Given the description of an element on the screen output the (x, y) to click on. 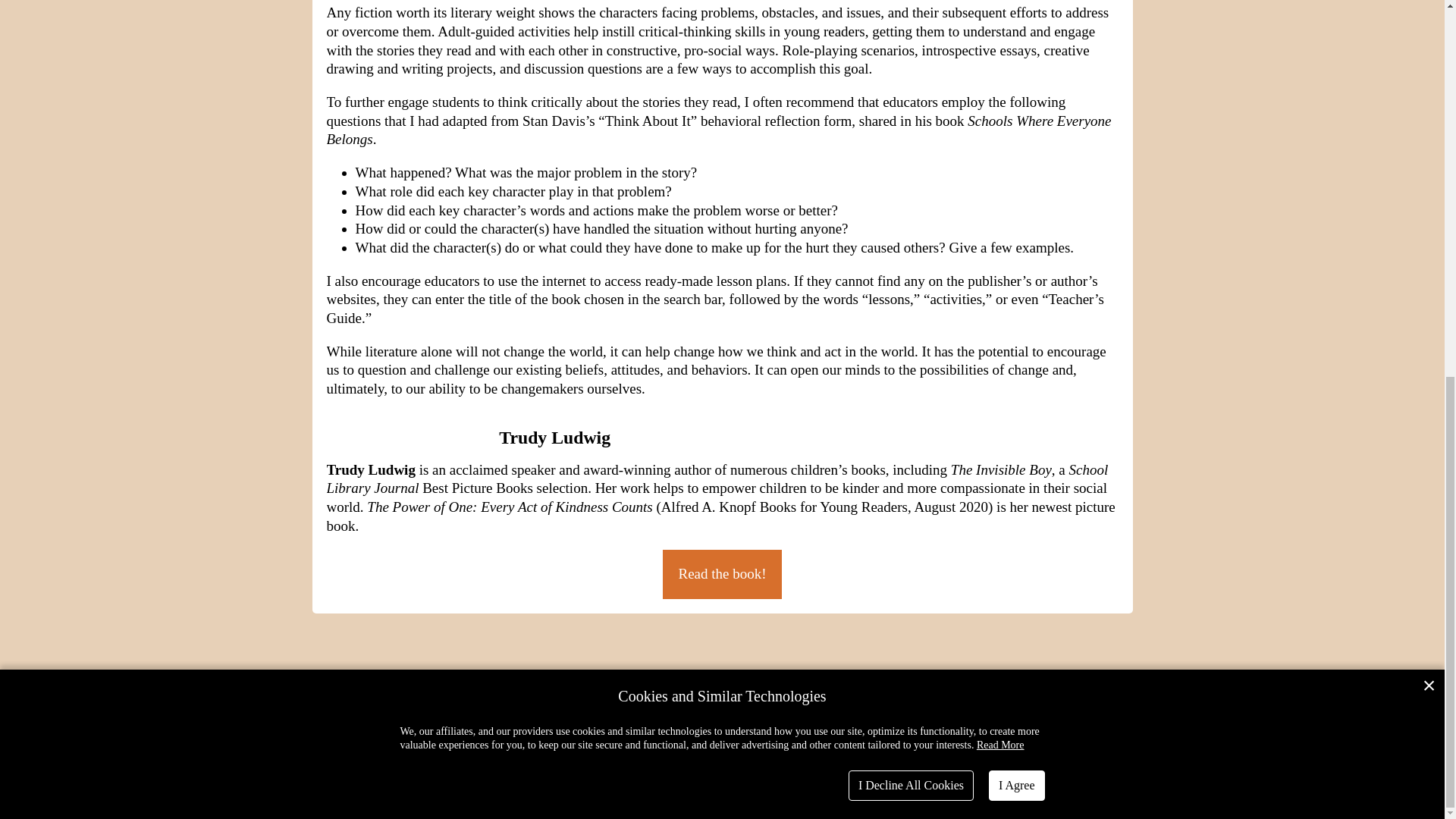
Terms of Use (394, 743)
Contact Us (947, 743)
Higher Ed (698, 799)
Affiliate Program Disclosure (840, 743)
Secondary (640, 799)
RHCBooks.com (1051, 727)
CA Privacy Policy (561, 743)
Penguin Random House Education (506, 799)
Do Not Sell My Personal Info (687, 743)
Read the book! (721, 573)
